Given the description of an element on the screen output the (x, y) to click on. 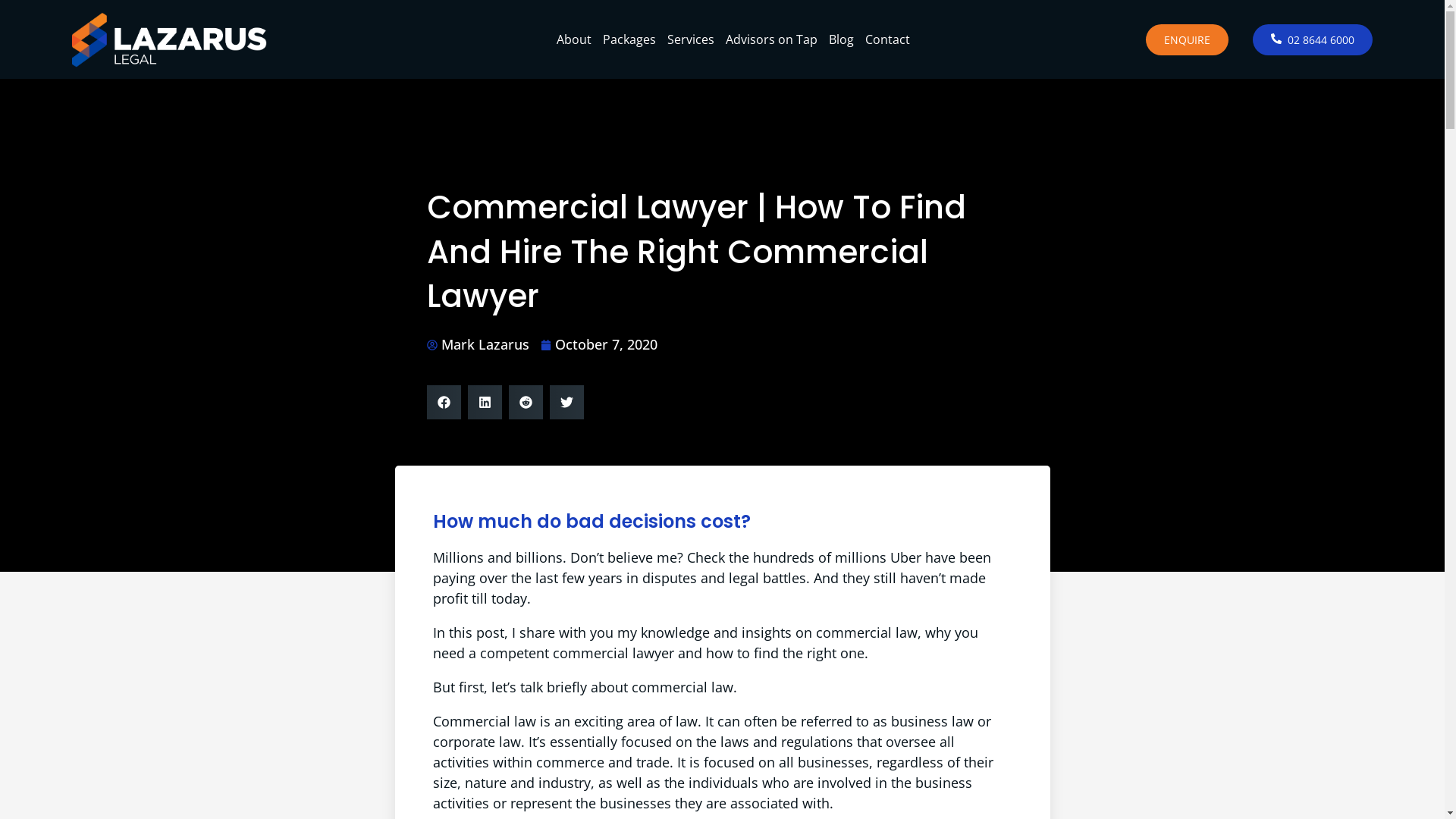
Contact Element type: text (887, 39)
October 7, 2020 Element type: text (598, 344)
Packages Element type: text (628, 39)
Blog Element type: text (840, 39)
02 8644 6000 Element type: text (1312, 39)
ENQUIRE Element type: text (1186, 39)
Mark Lazarus Element type: text (477, 344)
About Element type: text (573, 39)
Services Element type: text (690, 39)
Advisors on Tap Element type: text (771, 39)
